Given the description of an element on the screen output the (x, y) to click on. 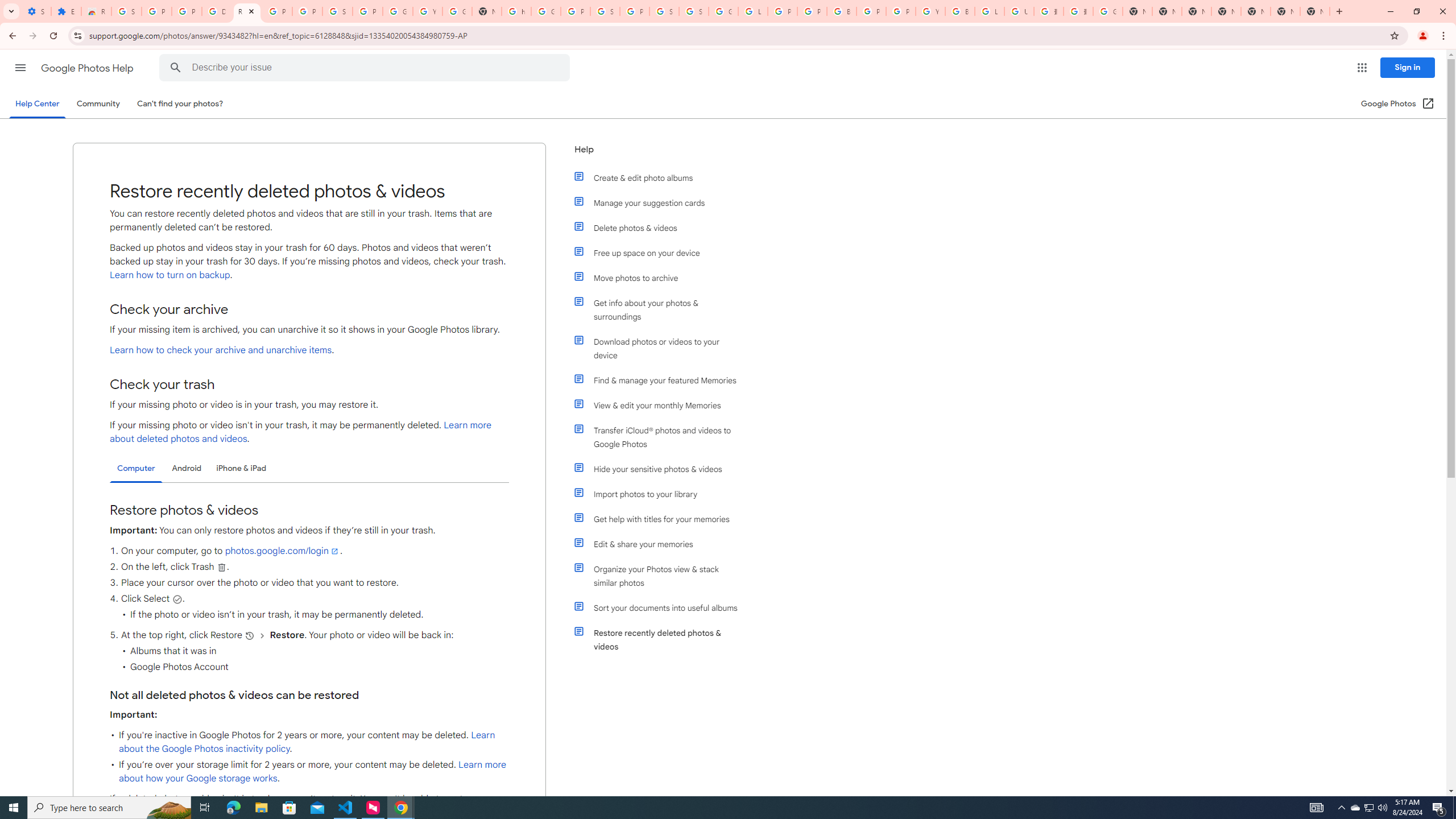
Download photos or videos to your device (661, 348)
Delete (221, 566)
Reviews: Helix Fruit Jump Arcade Game (95, 11)
Google Photos (Open in a new window) (1397, 103)
Privacy Help Center - Policies Help (782, 11)
Describe your issue (366, 67)
Import photos to your library (661, 493)
View & edit your monthly Memories (661, 405)
